Given the description of an element on the screen output the (x, y) to click on. 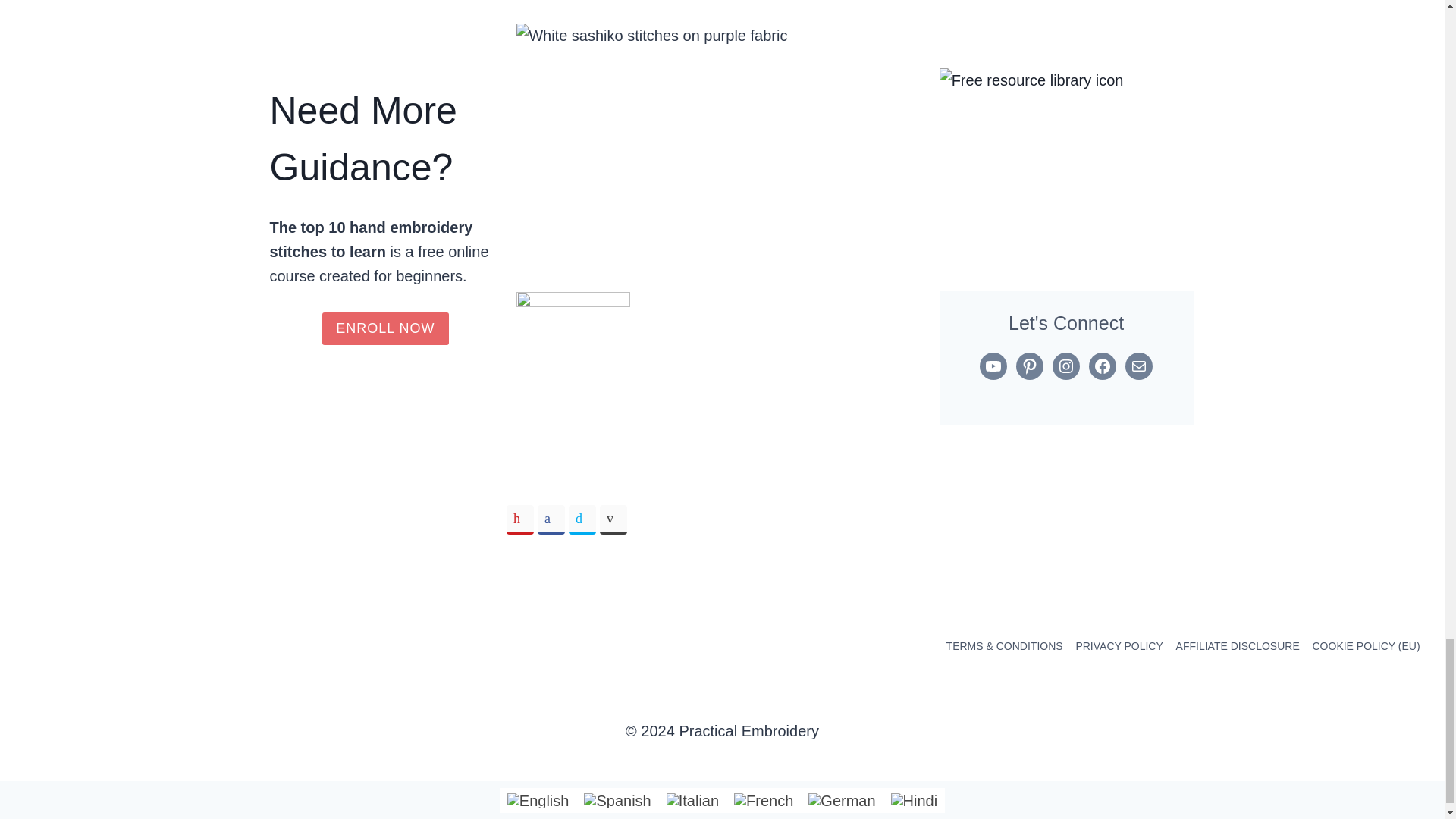
Share on Pinterest (520, 519)
Share on Email (613, 519)
Share on Facebook (550, 519)
Share on Twitter (582, 519)
